Given the description of an element on the screen output the (x, y) to click on. 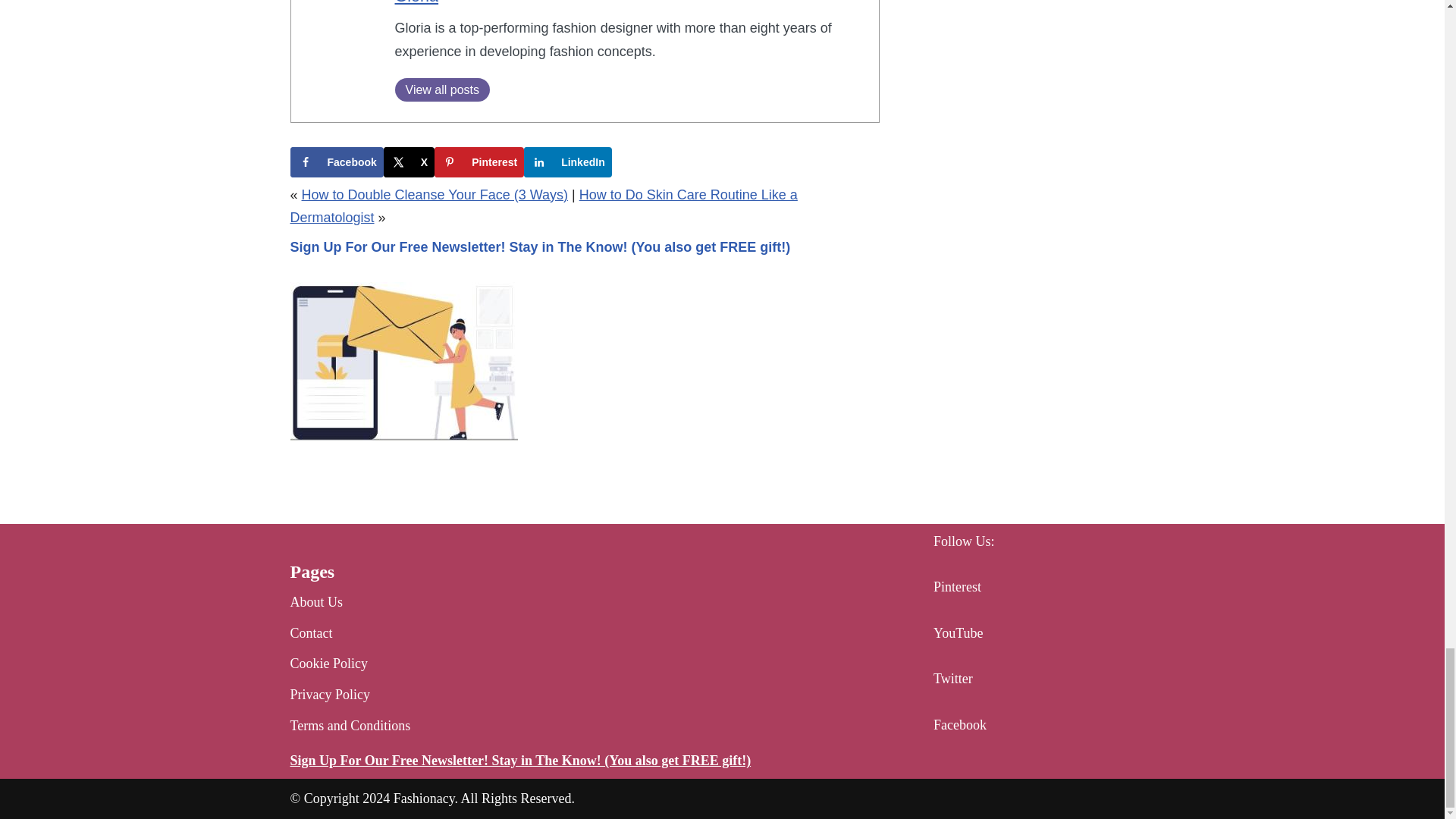
Share on Facebook (335, 162)
Share on X (408, 162)
Gloria (416, 2)
View all posts (441, 89)
Save to Pinterest (478, 162)
Share on LinkedIn (567, 162)
